Given the description of an element on the screen output the (x, y) to click on. 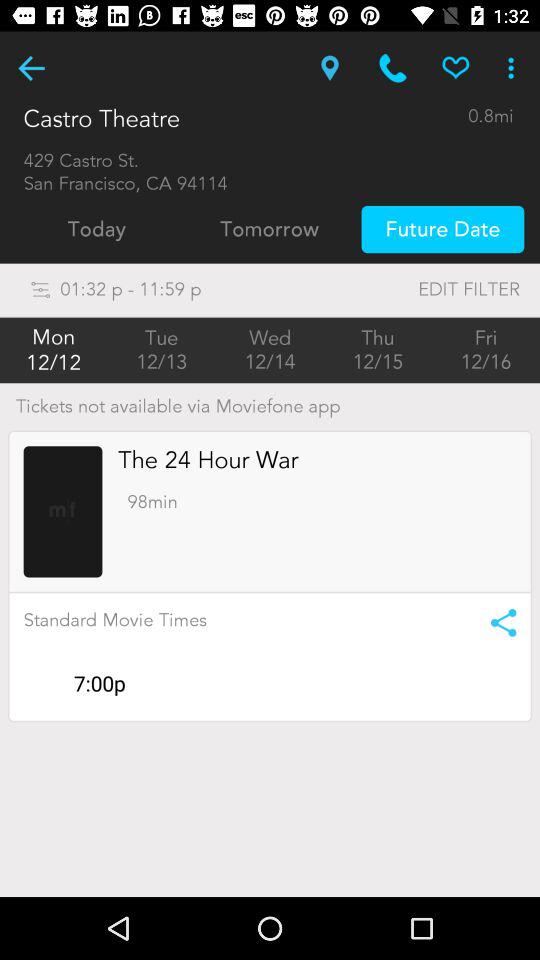
open item next to the the 24 hour icon (62, 511)
